Given the description of an element on the screen output the (x, y) to click on. 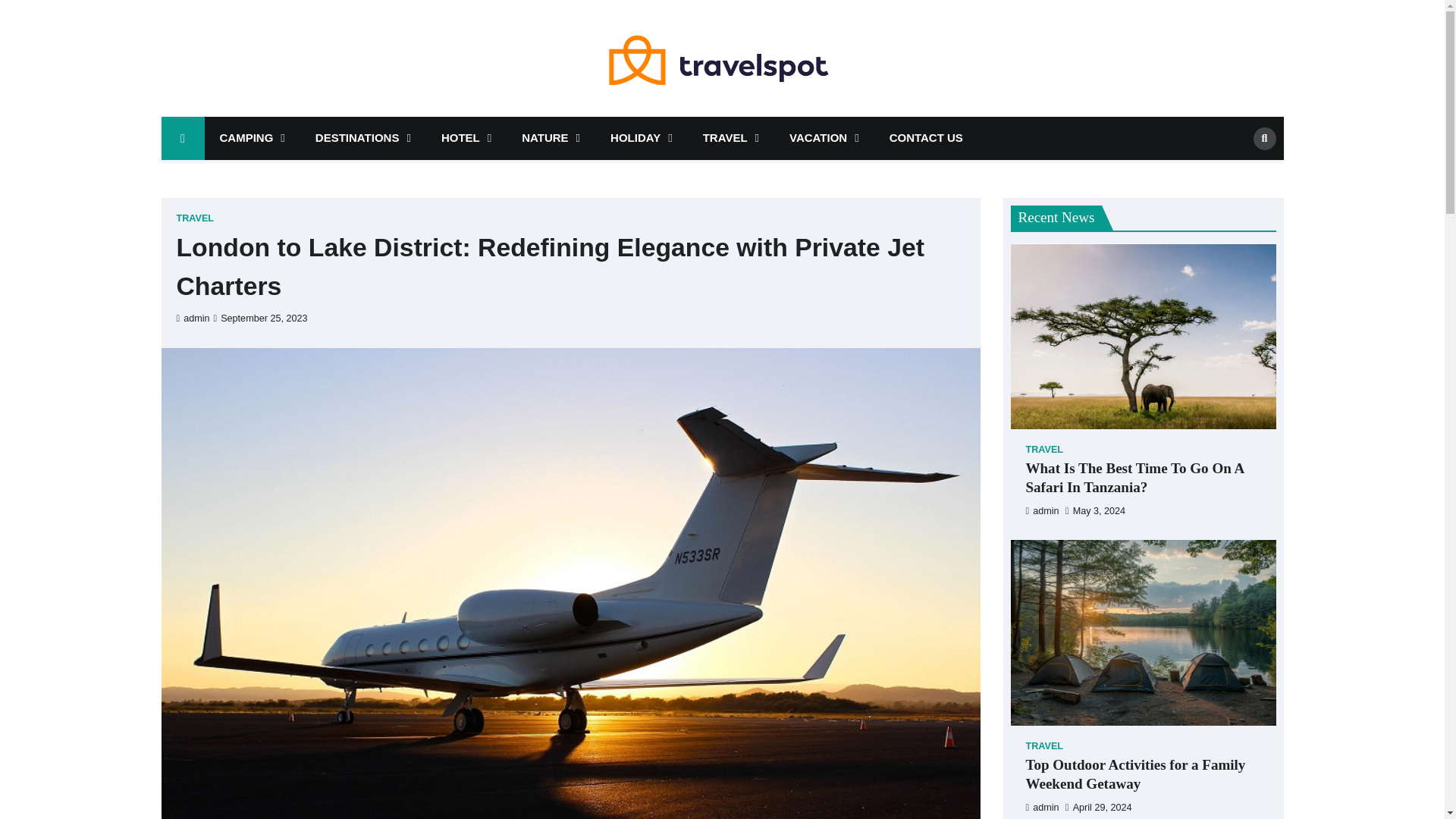
admin (192, 317)
admin (1041, 510)
DESTINATIONS (362, 138)
May 3, 2024 (1095, 510)
Search (1263, 138)
VACATION (824, 138)
TRAVEL (1043, 449)
TRAVEL (730, 138)
What Is The Best Time To Go On A Safari In Tanzania? (1142, 478)
CONTACT US (926, 138)
CAMPING (252, 138)
HOTEL (466, 138)
Search (1238, 171)
September 25, 2023 (260, 317)
HOLIDAY (641, 138)
